Given the description of an element on the screen output the (x, y) to click on. 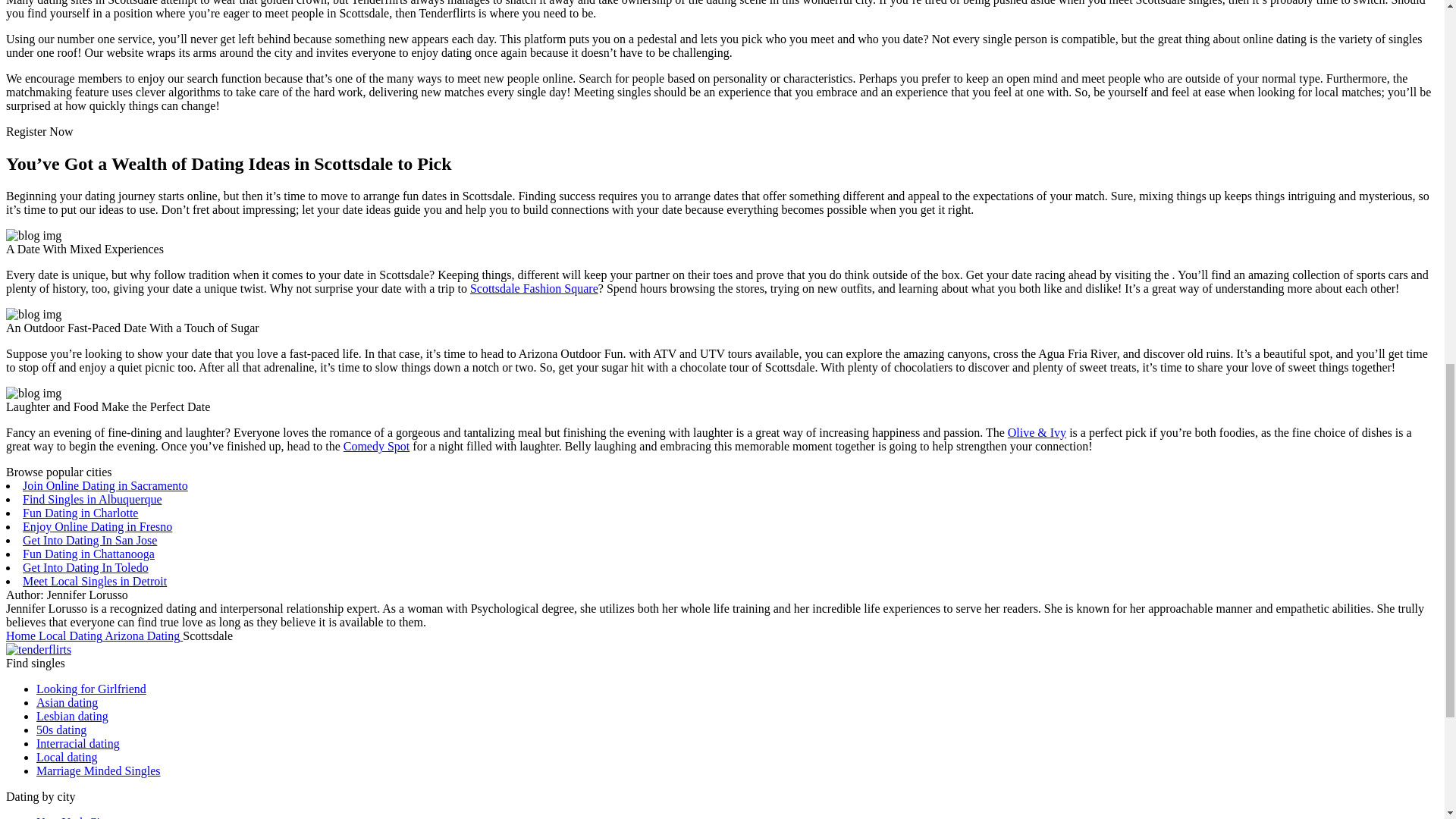
Find Singles in Albuquerque (92, 499)
New York City (72, 817)
Asian dating (66, 702)
Arizona Dating (143, 635)
Join Online Dating in Sacramento (105, 485)
Marriage Minded Singles (98, 770)
Scottsdale Fashion Square (534, 287)
Enjoy Online Dating in Fresno (97, 526)
Local dating (66, 757)
Meet Local Singles in Detroit (95, 581)
